Given the description of an element on the screen output the (x, y) to click on. 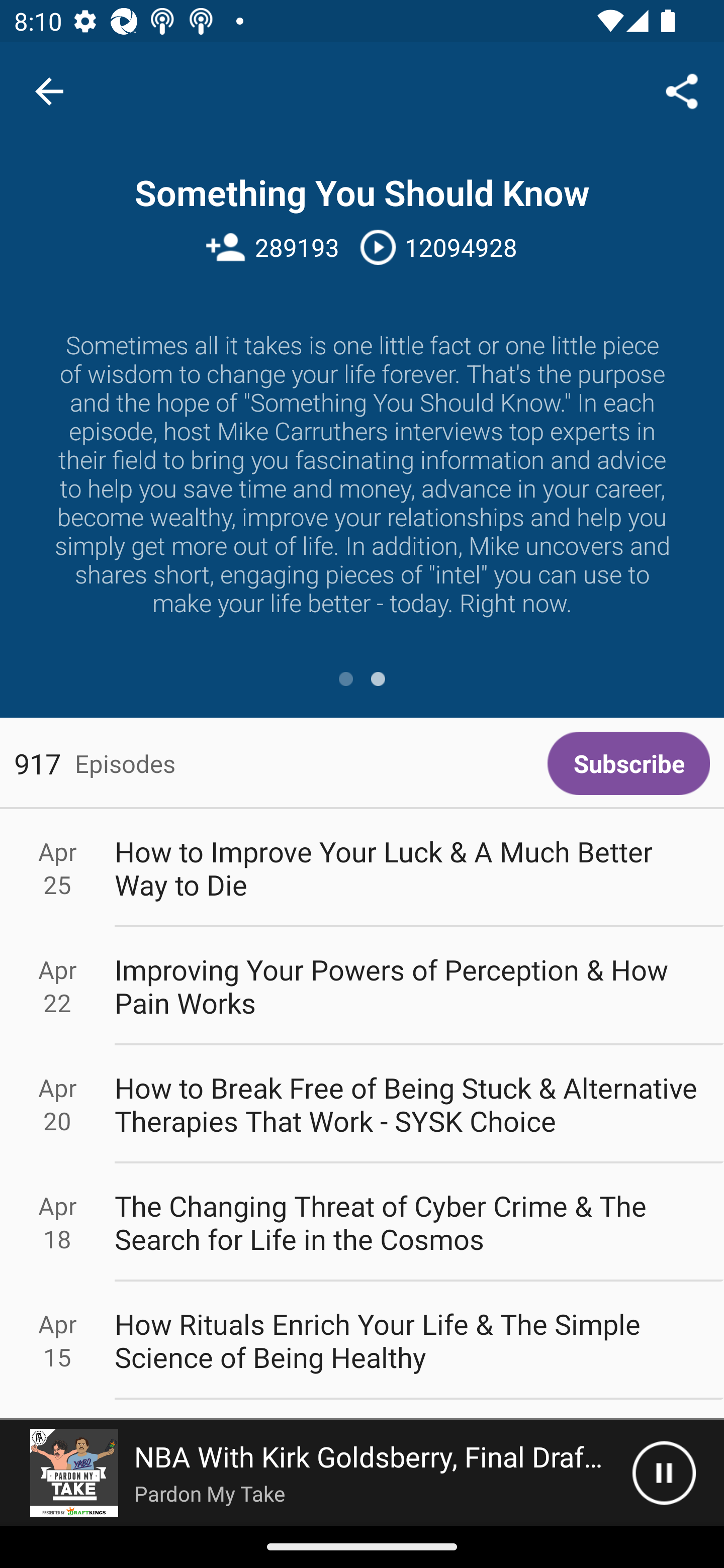
Navigate up (49, 91)
Share... (681, 90)
Subscribe (628, 763)
Pause (663, 1472)
